Given the description of an element on the screen output the (x, y) to click on. 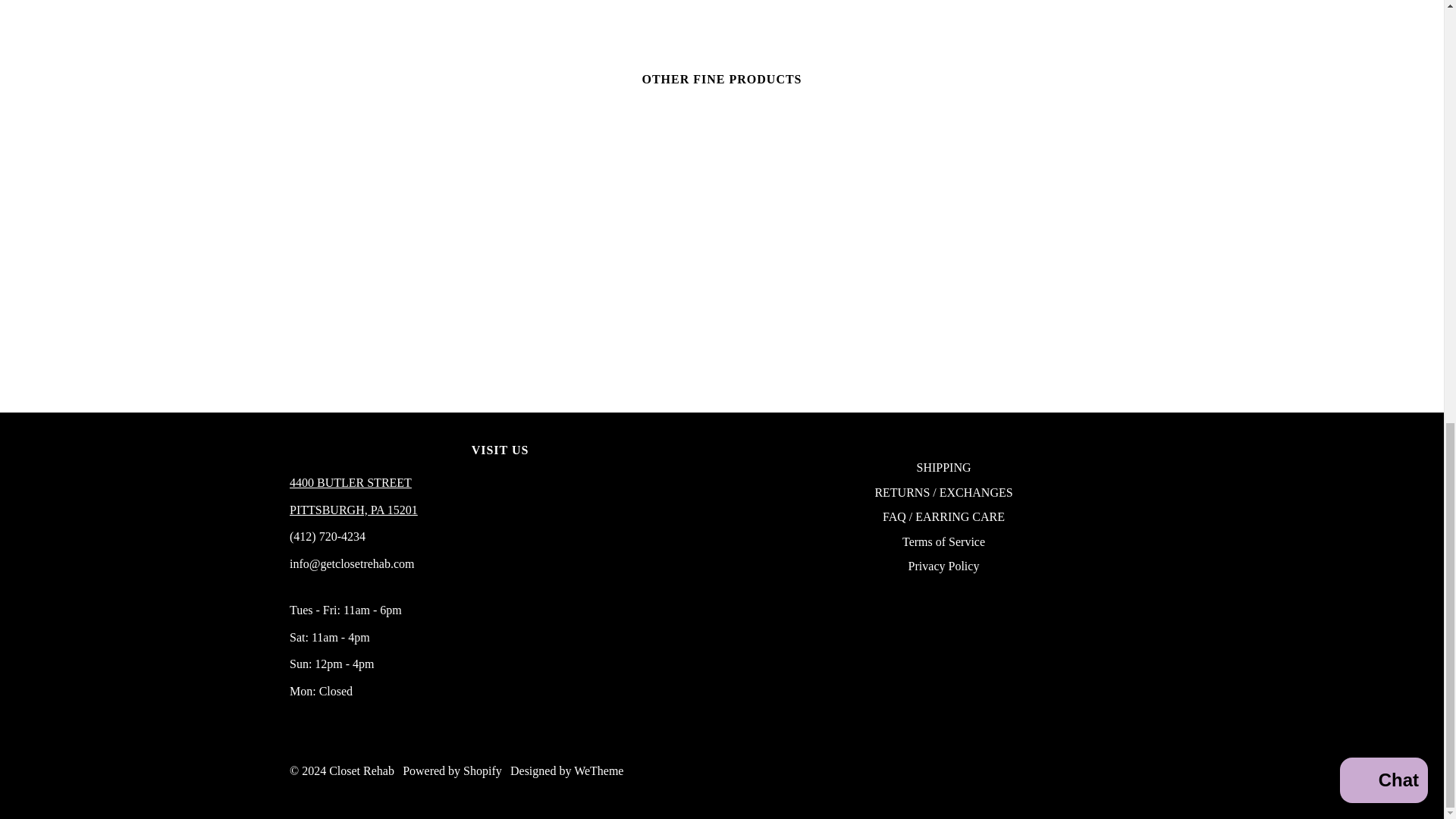
4400 BUTLER STREE PITTSBURGH, PA 15201 (353, 509)
Designed by WeTheme (567, 770)
4400 BUTLER STREE PITTSBURGH, PA 15201 (350, 481)
